Given the description of an element on the screen output the (x, y) to click on. 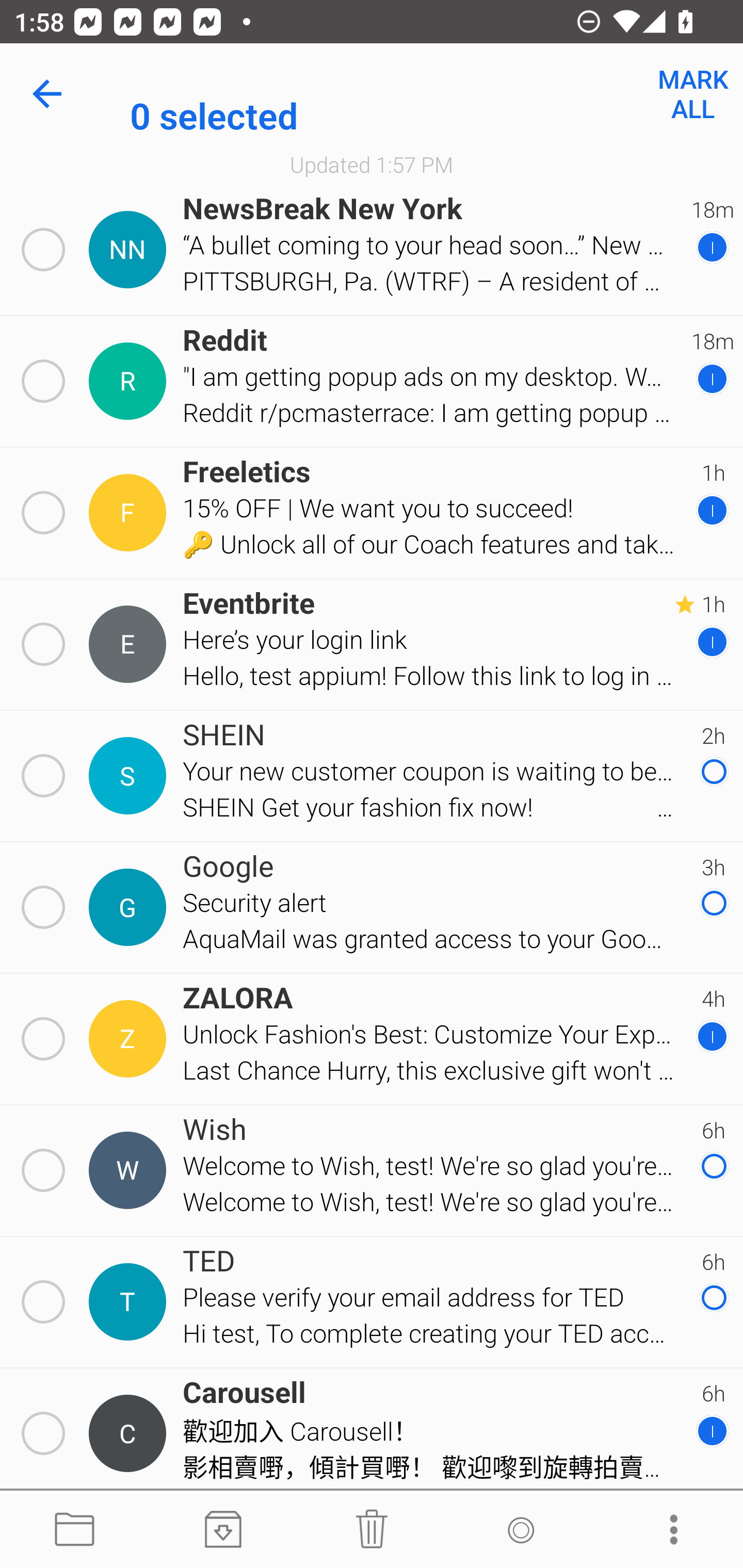
Done (50, 93)
MARK
ALL (692, 93)
Contact Details (129, 250)
Contact Details (129, 381)
Contact Details (129, 513)
Contact Details (129, 644)
Contact Details (129, 776)
Contact Details (129, 907)
Contact Details (129, 1038)
Contact Details (129, 1170)
Contact Details (129, 1302)
Contact Details (129, 1433)
Move (74, 1529)
Archive (222, 1529)
Delete (371, 1529)
Mark as Read (520, 1529)
More Options (668, 1529)
